Given the description of an element on the screen output the (x, y) to click on. 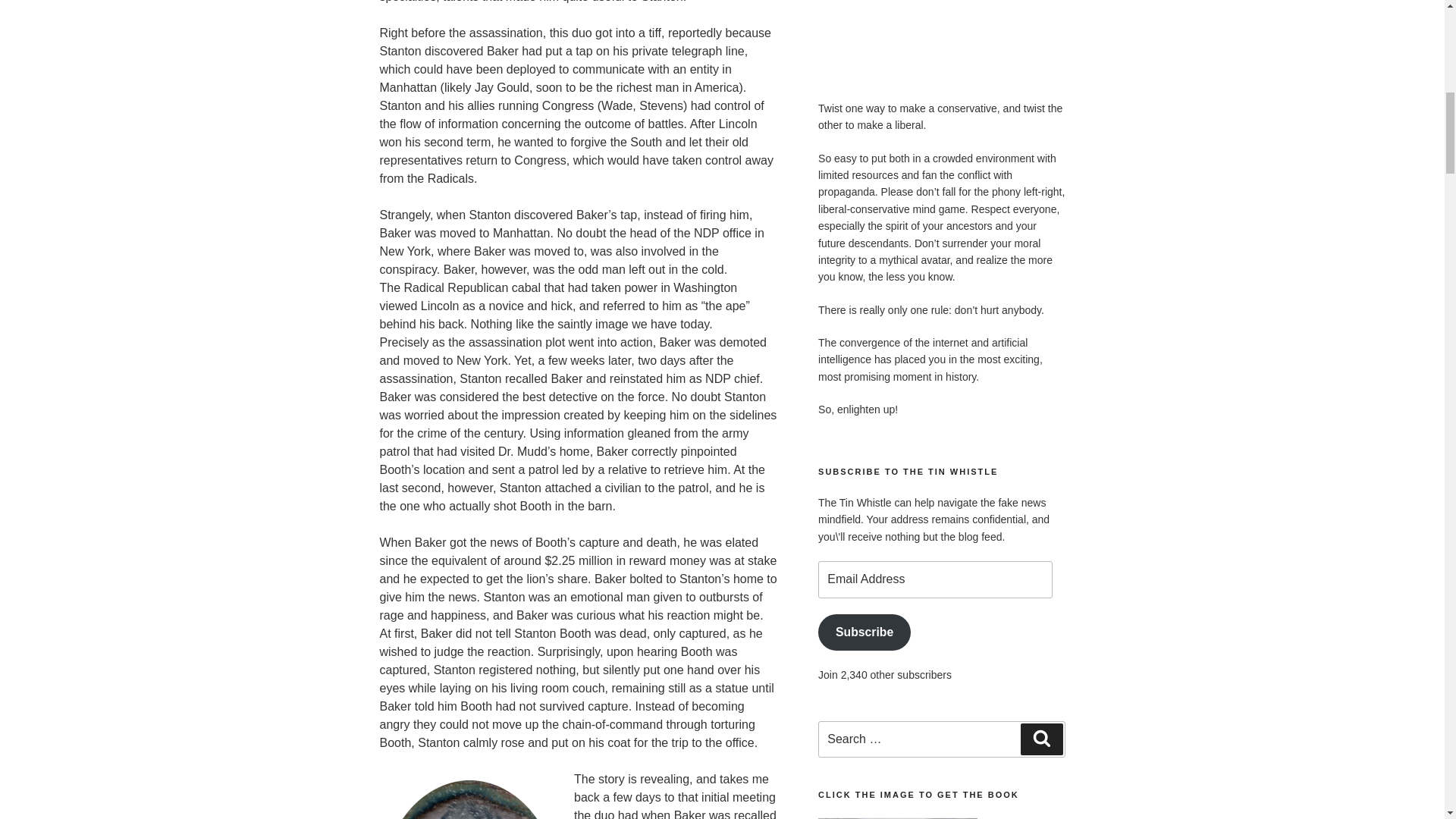
Subscribe (864, 632)
Everything You Know is Twisted (941, 23)
Search (1041, 739)
